Given the description of an element on the screen output the (x, y) to click on. 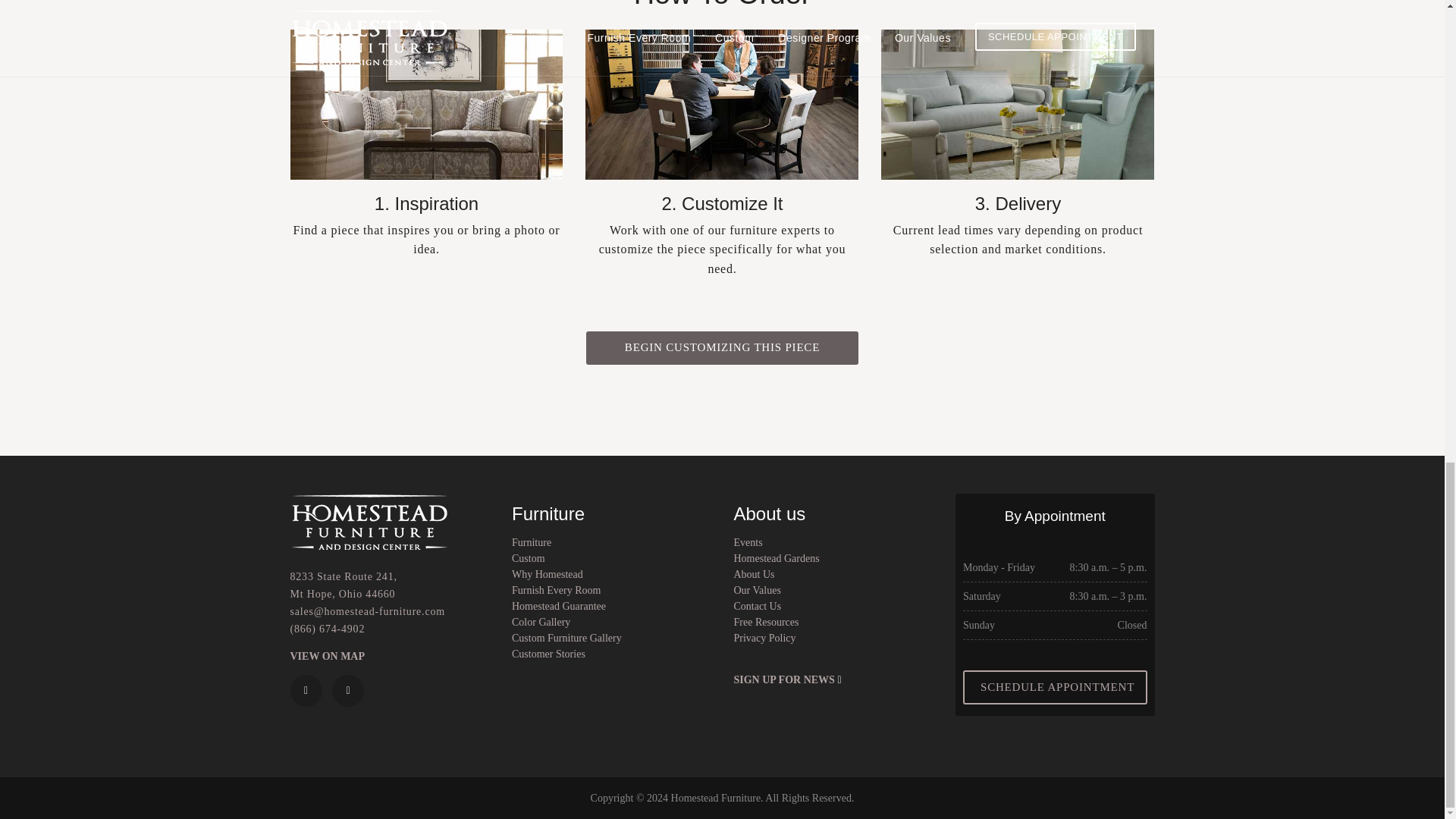
Custom Furniture Gallery (566, 637)
BEGIN CUSTOMIZING THIS PIECE (721, 346)
Color Gallery (541, 622)
Furniture (531, 542)
Custom (528, 558)
VIEW ON MAP (327, 655)
Homestead Guarantee (558, 605)
Why Homestead (547, 573)
Furnish Every Room (555, 590)
